Given the description of an element on the screen output the (x, y) to click on. 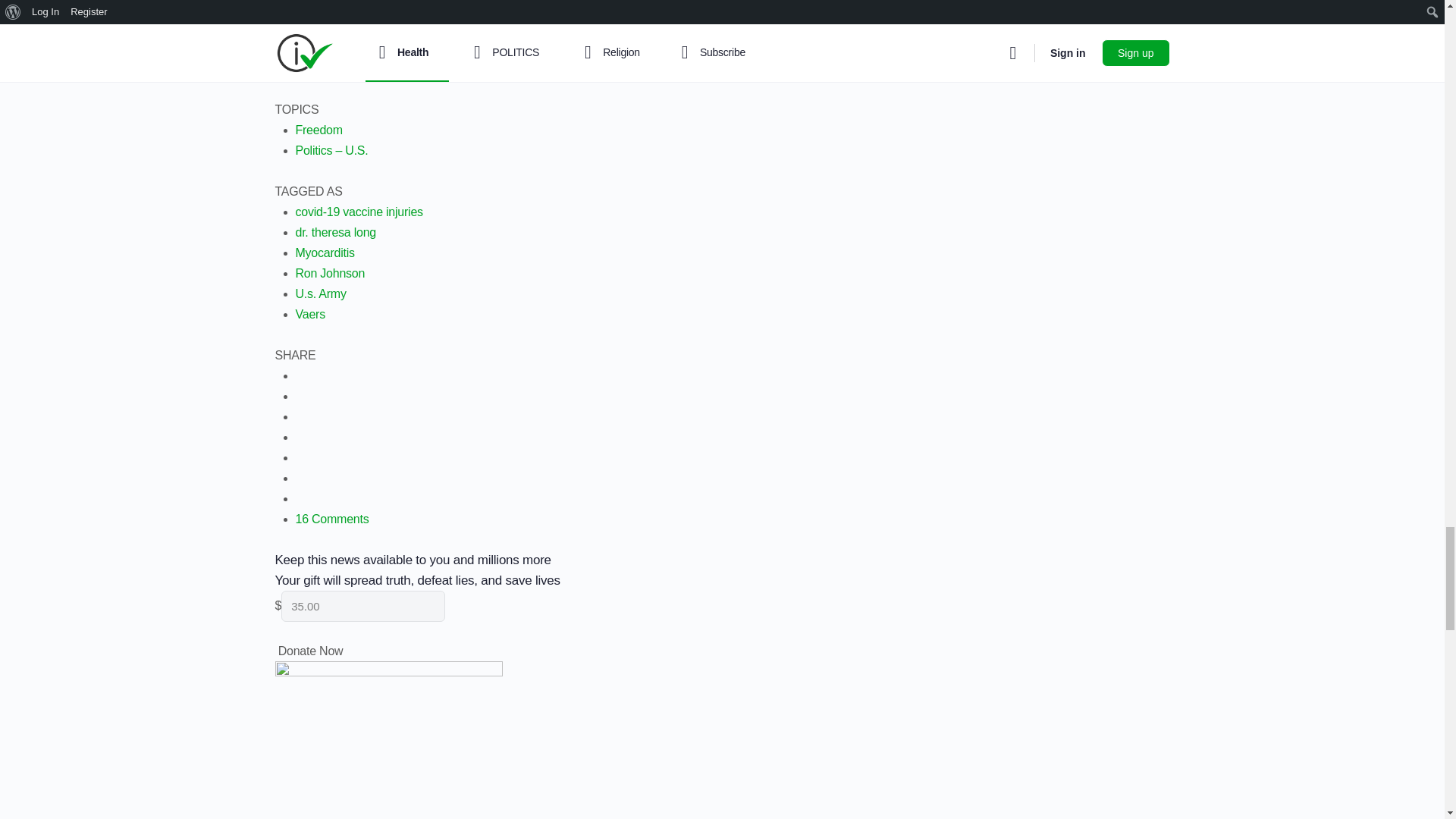
35.00 (363, 605)
Comment on this article (332, 518)
